Given the description of an element on the screen output the (x, y) to click on. 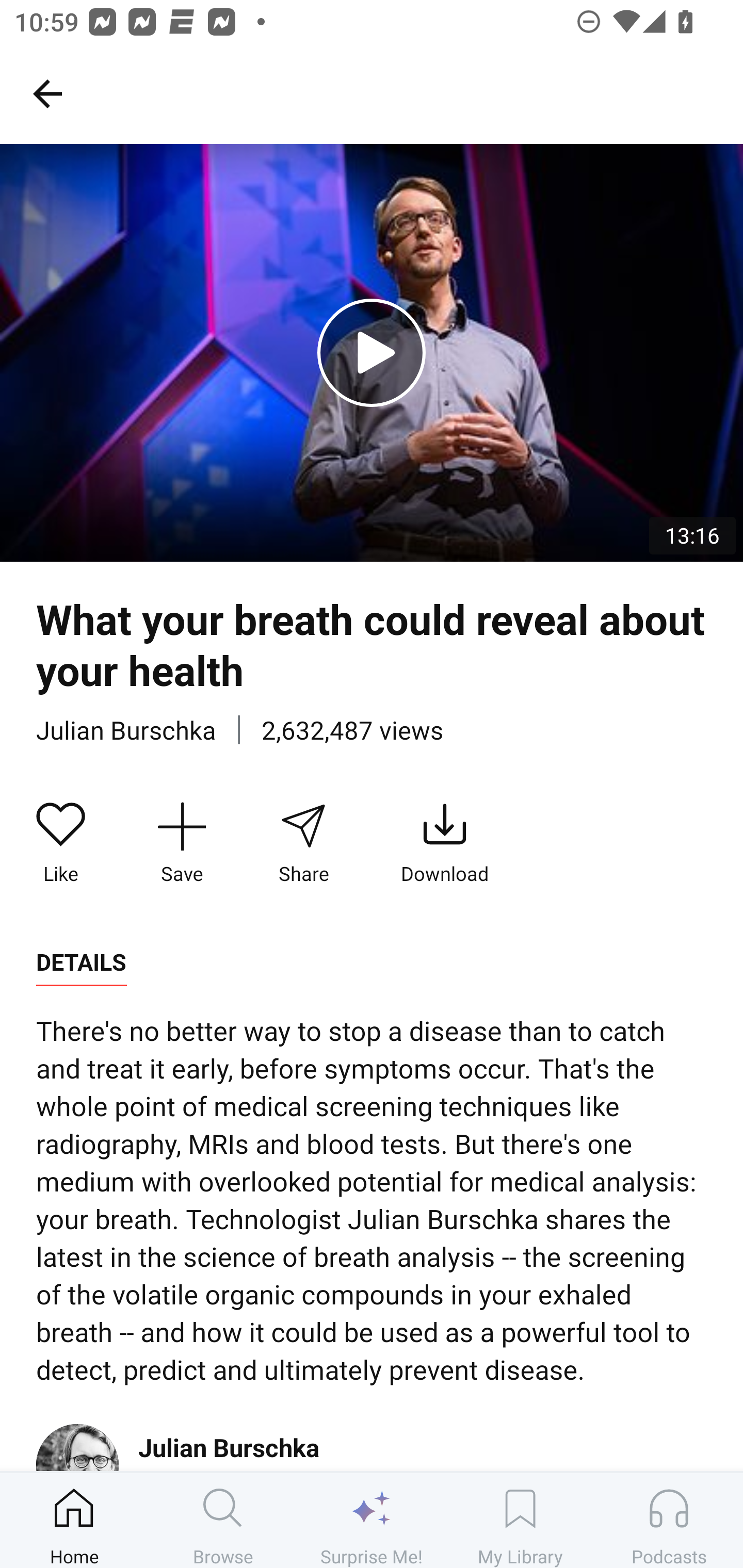
Home, back (47, 92)
Like (60, 843)
Save (181, 843)
Share (302, 843)
Download (444, 843)
DETAILS (80, 962)
Home (74, 1520)
Browse (222, 1520)
Surprise Me! (371, 1520)
My Library (519, 1520)
Podcasts (668, 1520)
